Given the description of an element on the screen output the (x, y) to click on. 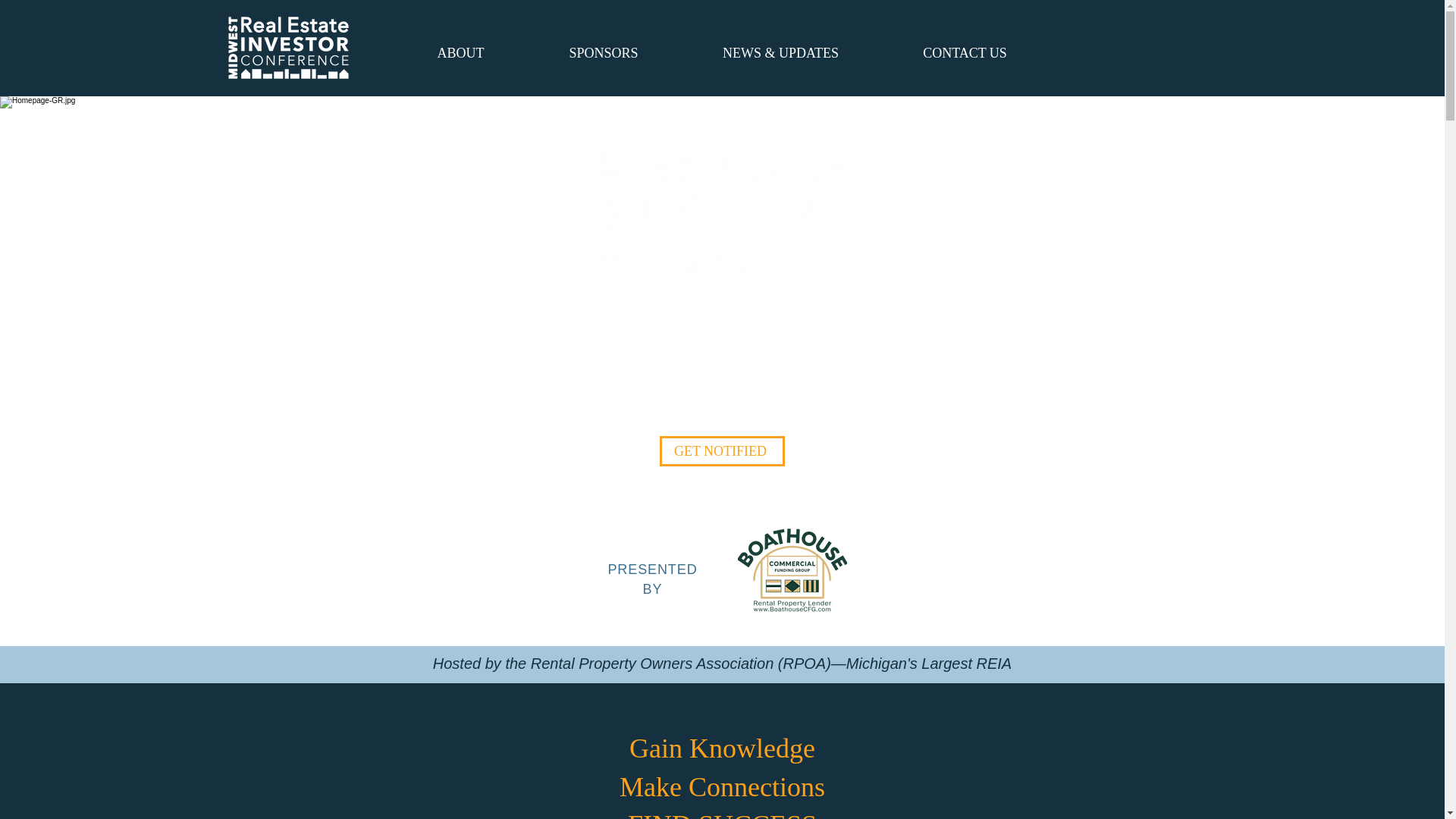
CONTACT US (964, 52)
SPONSORS (602, 52)
GET NOTIFIED (721, 450)
ABOUT (459, 52)
